Given the description of an element on the screen output the (x, y) to click on. 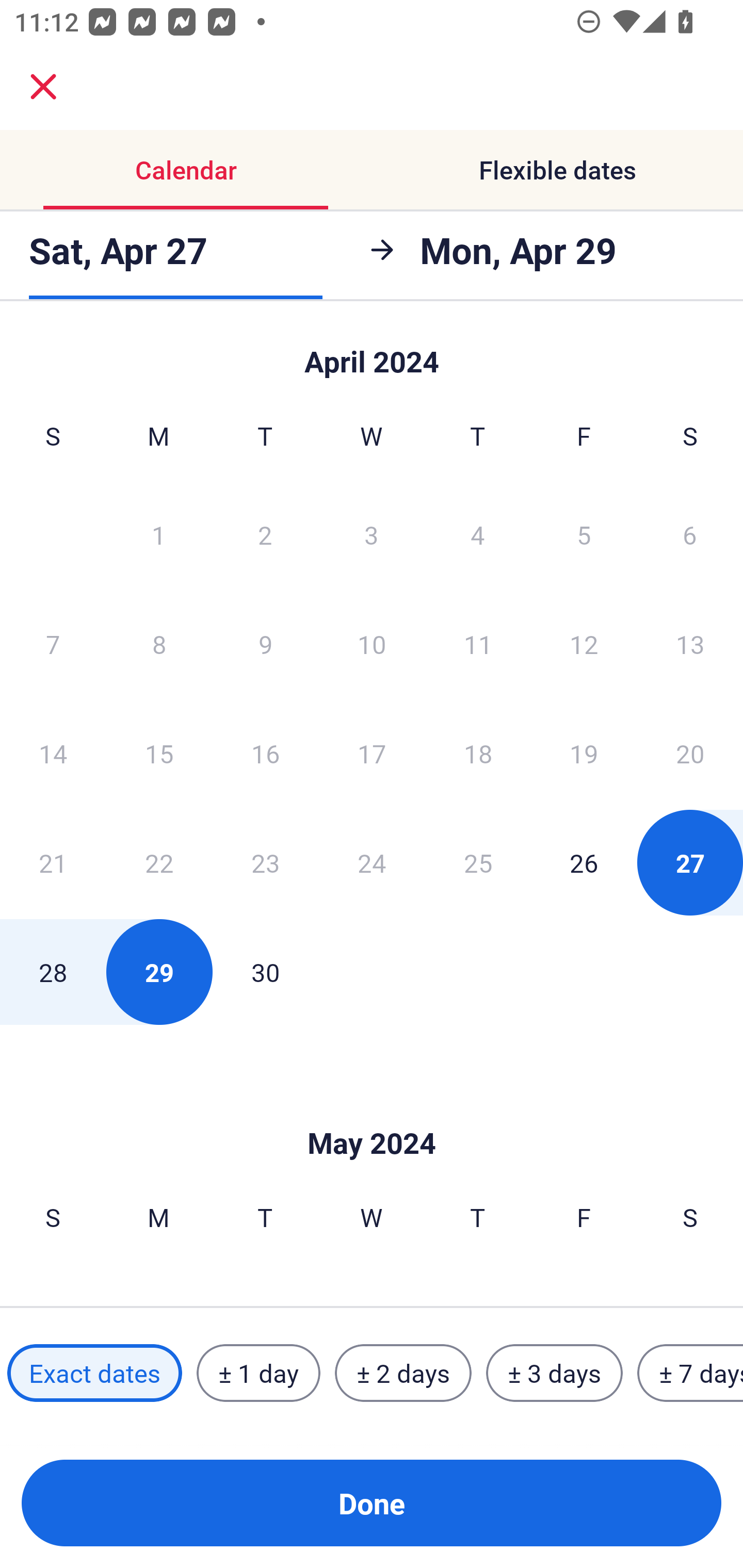
close. (43, 86)
Flexible dates (557, 170)
Skip to Done (371, 352)
1 Monday, April 1, 2024 (158, 534)
2 Tuesday, April 2, 2024 (264, 534)
3 Wednesday, April 3, 2024 (371, 534)
4 Thursday, April 4, 2024 (477, 534)
5 Friday, April 5, 2024 (583, 534)
6 Saturday, April 6, 2024 (689, 534)
7 Sunday, April 7, 2024 (53, 643)
8 Monday, April 8, 2024 (159, 643)
9 Tuesday, April 9, 2024 (265, 643)
10 Wednesday, April 10, 2024 (371, 643)
11 Thursday, April 11, 2024 (477, 643)
12 Friday, April 12, 2024 (584, 643)
13 Saturday, April 13, 2024 (690, 643)
14 Sunday, April 14, 2024 (53, 752)
15 Monday, April 15, 2024 (159, 752)
16 Tuesday, April 16, 2024 (265, 752)
17 Wednesday, April 17, 2024 (371, 752)
18 Thursday, April 18, 2024 (477, 752)
19 Friday, April 19, 2024 (584, 752)
20 Saturday, April 20, 2024 (690, 752)
21 Sunday, April 21, 2024 (53, 862)
22 Monday, April 22, 2024 (159, 862)
23 Tuesday, April 23, 2024 (265, 862)
24 Wednesday, April 24, 2024 (371, 862)
25 Thursday, April 25, 2024 (477, 862)
26 Friday, April 26, 2024 (584, 862)
30 Tuesday, April 30, 2024 (265, 971)
Skip to Done (371, 1112)
Exact dates (94, 1372)
± 1 day (258, 1372)
± 2 days (403, 1372)
± 3 days (553, 1372)
± 7 days (690, 1372)
Done (371, 1502)
